Given the description of an element on the screen output the (x, y) to click on. 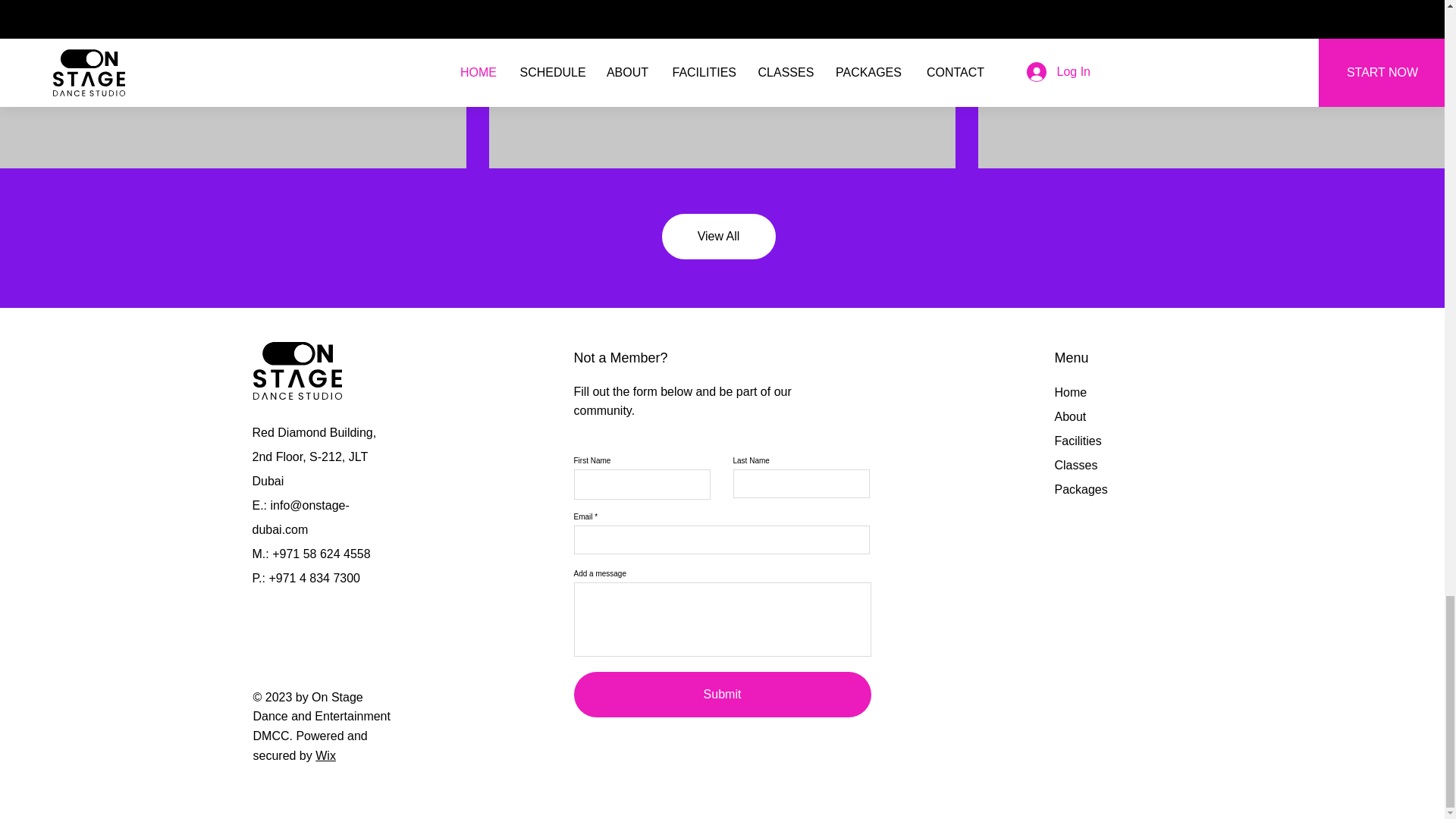
About (1070, 416)
Packages (1080, 489)
Home (1070, 391)
Wix (325, 755)
View All (717, 236)
Submit (721, 694)
Facilities (1077, 440)
Classes (1075, 464)
